Given the description of an element on the screen output the (x, y) to click on. 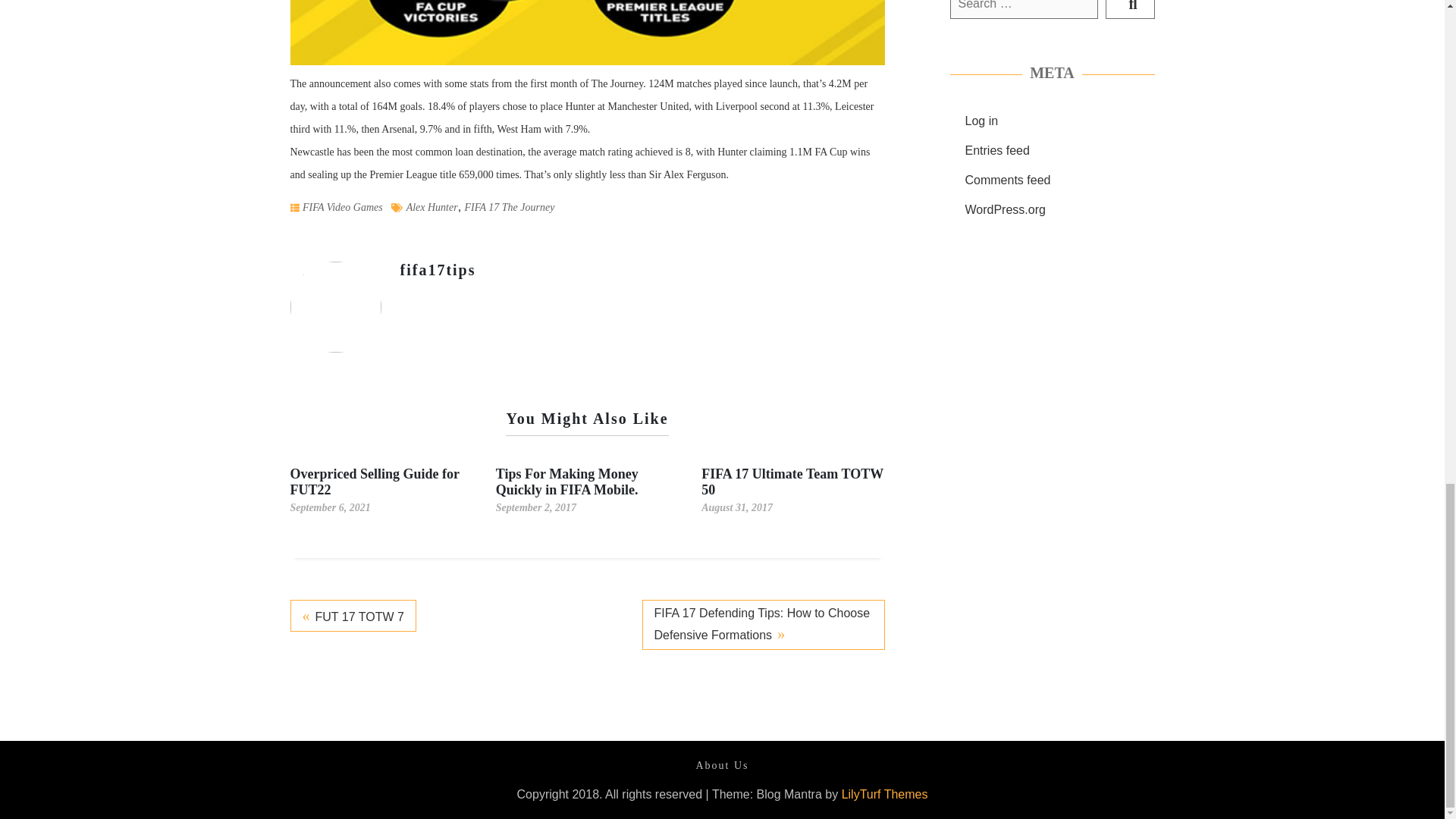
FIFA Video Games (342, 207)
August 31, 2017 (737, 507)
Posts by fifa17tips (438, 269)
Overpriced Selling Guide for FUT22 (373, 481)
September 2, 2017 (536, 507)
Search (1129, 9)
FUT 17 TOTW 7 (351, 615)
Alex Hunter (432, 206)
fifa17tips (438, 269)
September 6, 2021 (329, 507)
